Given the description of an element on the screen output the (x, y) to click on. 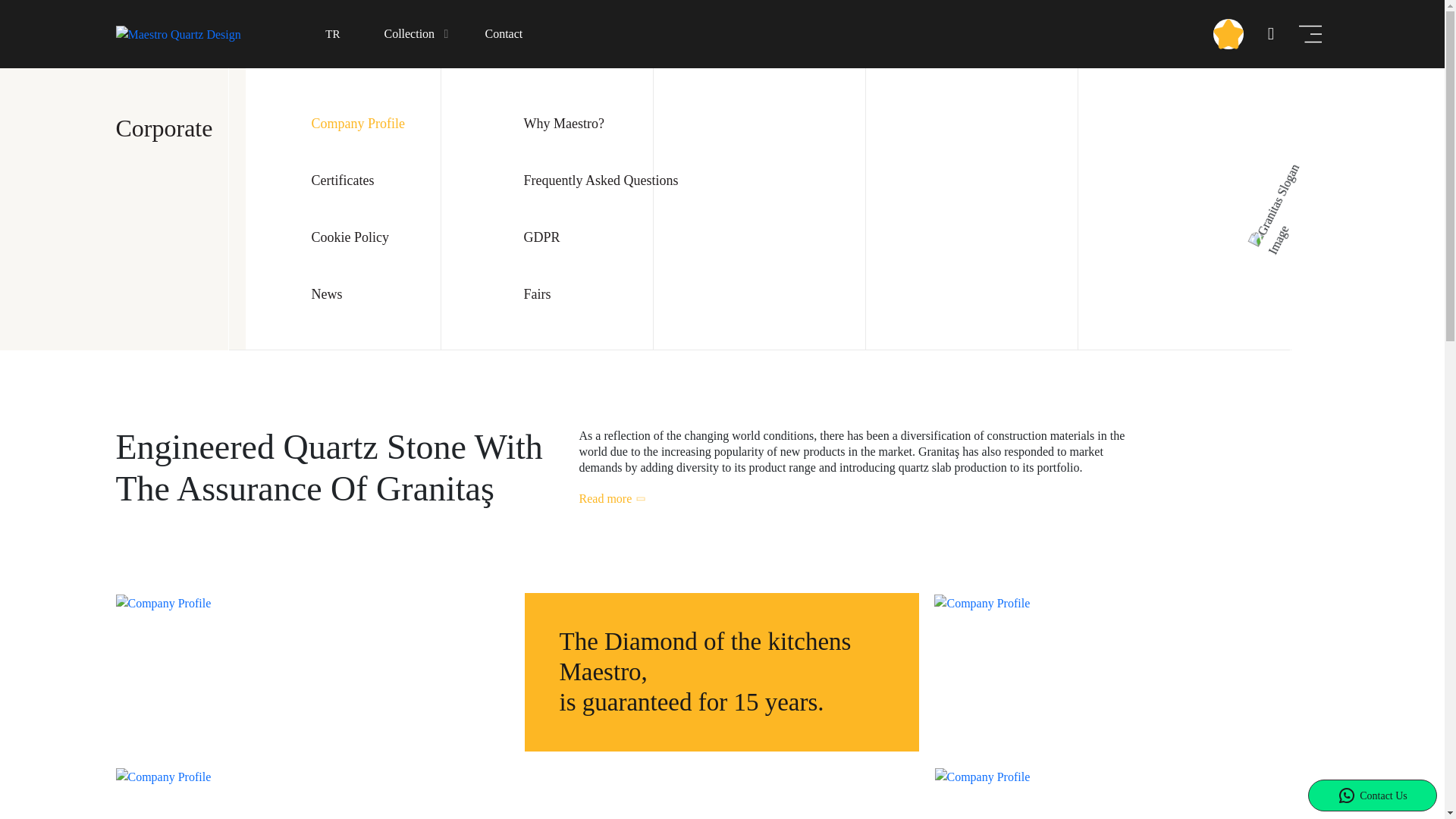
TR (328, 34)
Collection (419, 34)
